Given the description of an element on the screen output the (x, y) to click on. 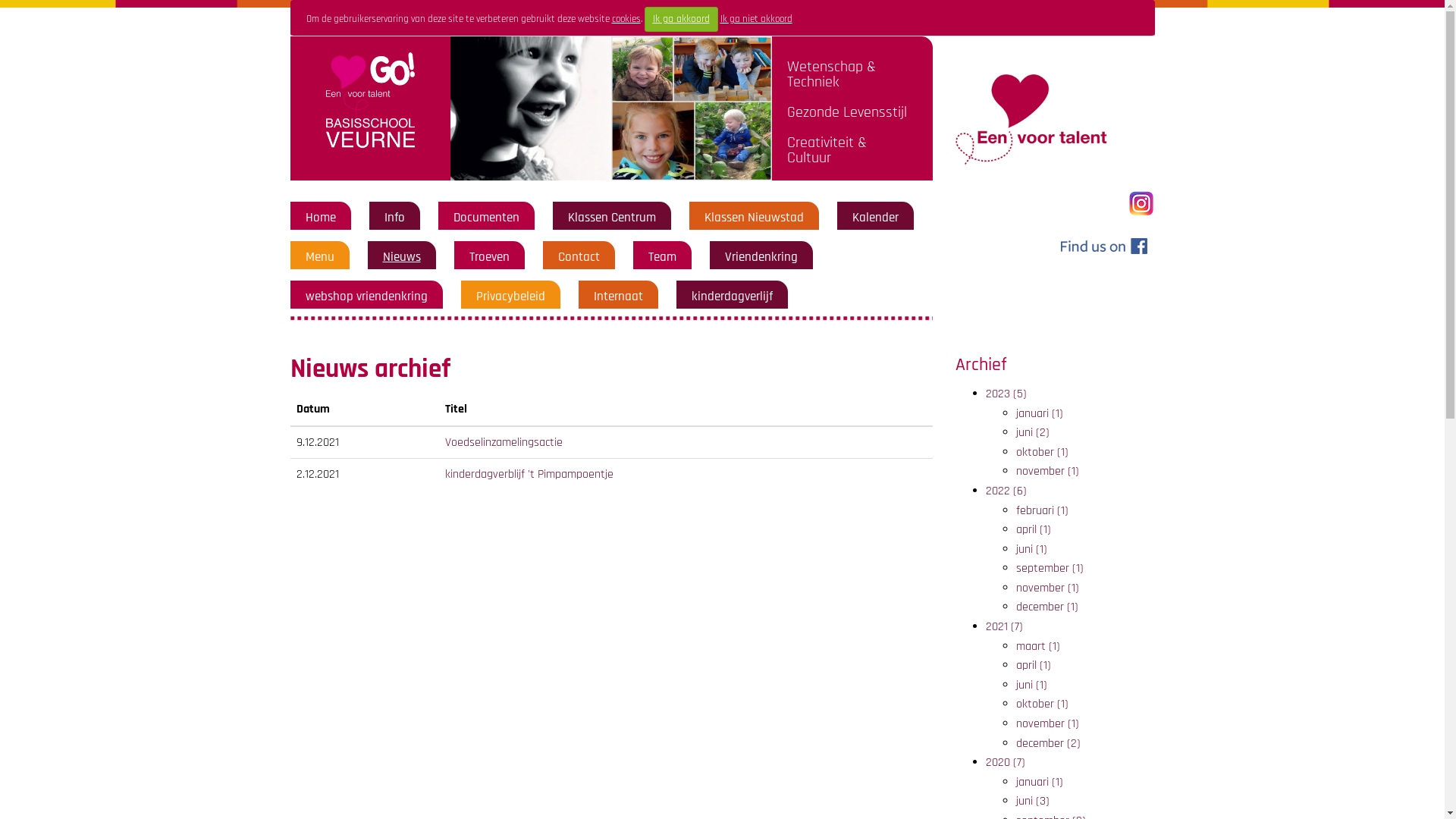
november (1) Element type: text (1047, 588)
juni (1) Element type: text (1031, 685)
juni (2) Element type: text (1032, 432)
januari (1) Element type: text (1039, 782)
Voedselinzamelingsactie Element type: text (503, 442)
december (1) Element type: text (1047, 607)
GO! Basisschool Veurne Element type: hover (530, 108)
Nieuws Element type: text (401, 256)
Internaat Element type: text (617, 296)
oktober (1) Element type: text (1042, 704)
oktober (1) Element type: text (1042, 452)
juni (3) Element type: text (1032, 801)
2023 (5) Element type: text (1005, 393)
september (1) Element type: text (1049, 568)
april (1) Element type: text (1033, 665)
2020 (7) Element type: text (1005, 762)
Team Element type: text (661, 256)
maart (1) Element type: text (1038, 646)
Ik ga akkoord Element type: text (681, 18)
GO! Basisschool Veurne Element type: hover (1103, 246)
Klassen Nieuwstad Element type: text (753, 217)
kinderdagverblijf 't Pimpampoentje Element type: text (529, 474)
kinderdagverlijf Element type: text (731, 296)
Contact Element type: text (578, 256)
GO! Basisschool Veurne Element type: hover (370, 108)
februari (1) Element type: text (1042, 510)
Vriendenkring Element type: text (760, 256)
november (1) Element type: text (1047, 471)
Documenten Element type: text (486, 217)
2021 (7) Element type: text (1003, 626)
GO! Basisschool Veurne Element type: hover (1141, 202)
juni (1) Element type: text (1031, 549)
Info Element type: text (393, 217)
april (1) Element type: text (1033, 529)
Troeven Element type: text (488, 256)
cookies Element type: text (625, 18)
januari (1) Element type: text (1039, 413)
november (1) Element type: text (1047, 723)
GO! Basisschool Veurne Element type: hover (1031, 119)
Kalender Element type: text (875, 217)
Ik ga niet akkoord Element type: text (756, 18)
Privacybeleid Element type: text (510, 296)
december (2) Element type: text (1048, 743)
Home Element type: text (319, 217)
2022 (6) Element type: text (1005, 490)
webshop vriendenkring Element type: text (365, 296)
Klassen Centrum Element type: text (611, 217)
Menu Element type: text (318, 256)
